Given the description of an element on the screen output the (x, y) to click on. 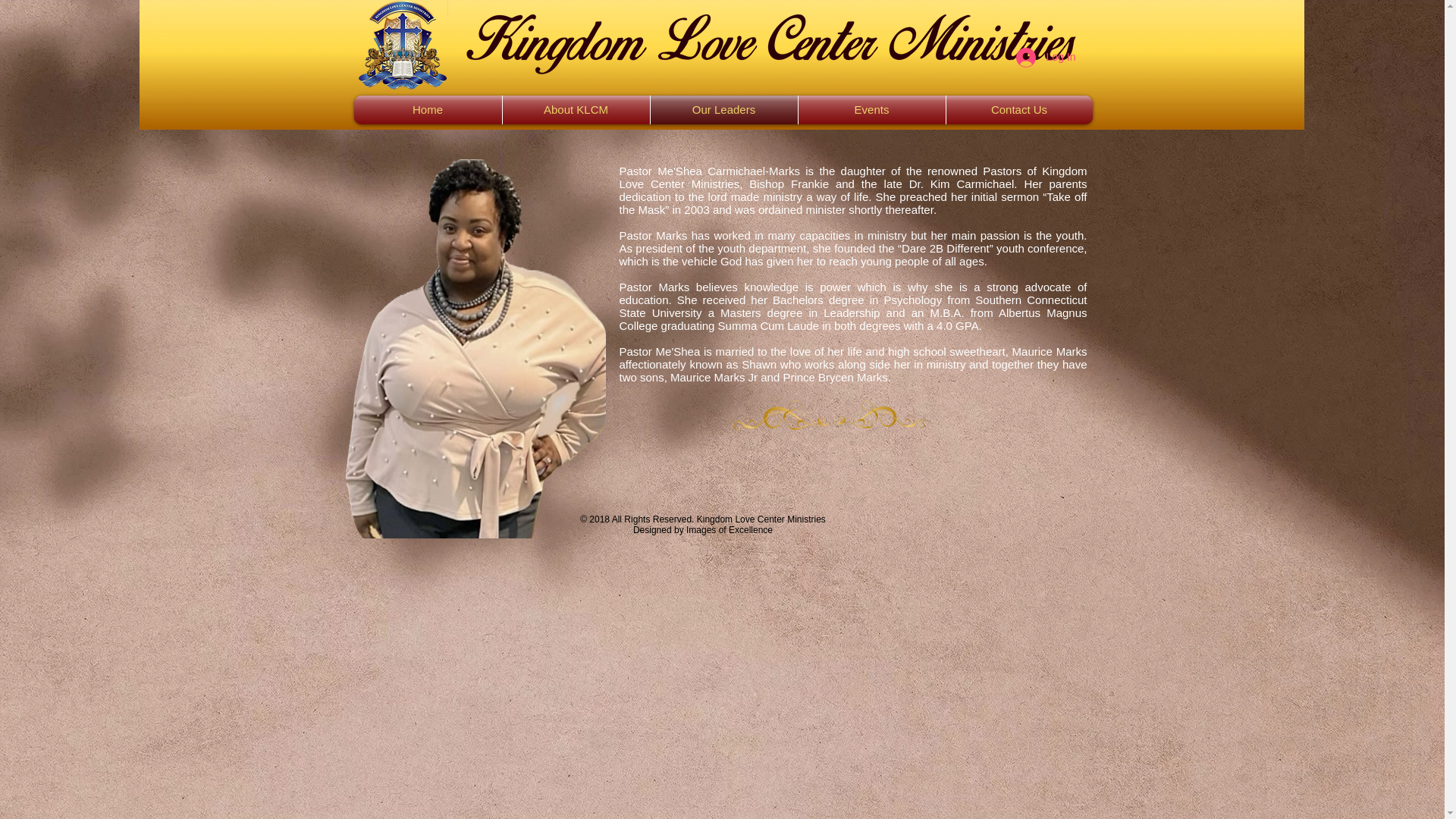
Images of Excellence (729, 529)
Contact Us (1019, 109)
Home (426, 109)
About KLCM (575, 109)
Log In (1046, 57)
Our Leaders (723, 109)
Events (870, 109)
